Given the description of an element on the screen output the (x, y) to click on. 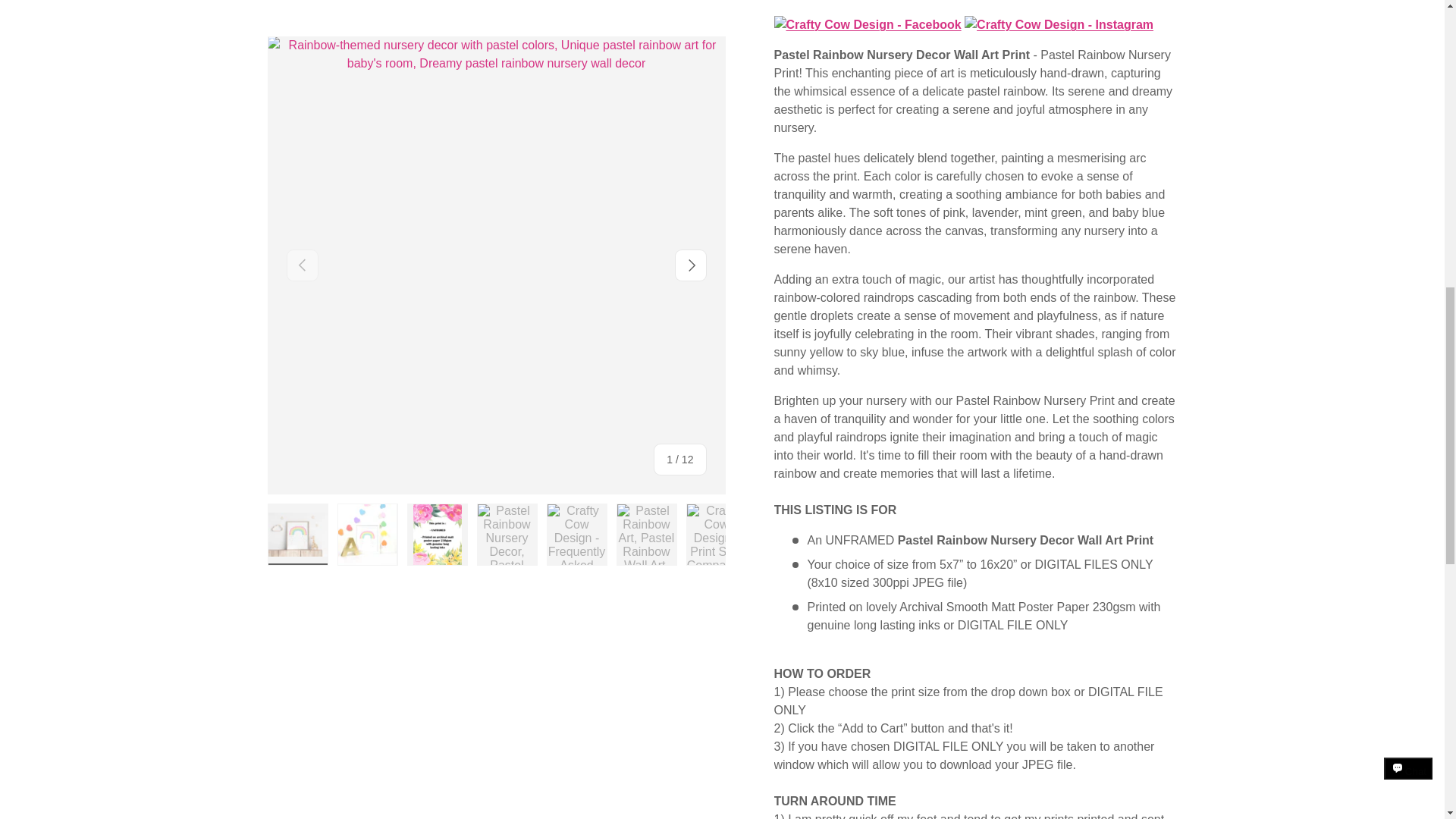
Crafty Cow Design - Facebook (866, 24)
Crafty Cow Design - Instagram (1058, 24)
